Given the description of an element on the screen output the (x, y) to click on. 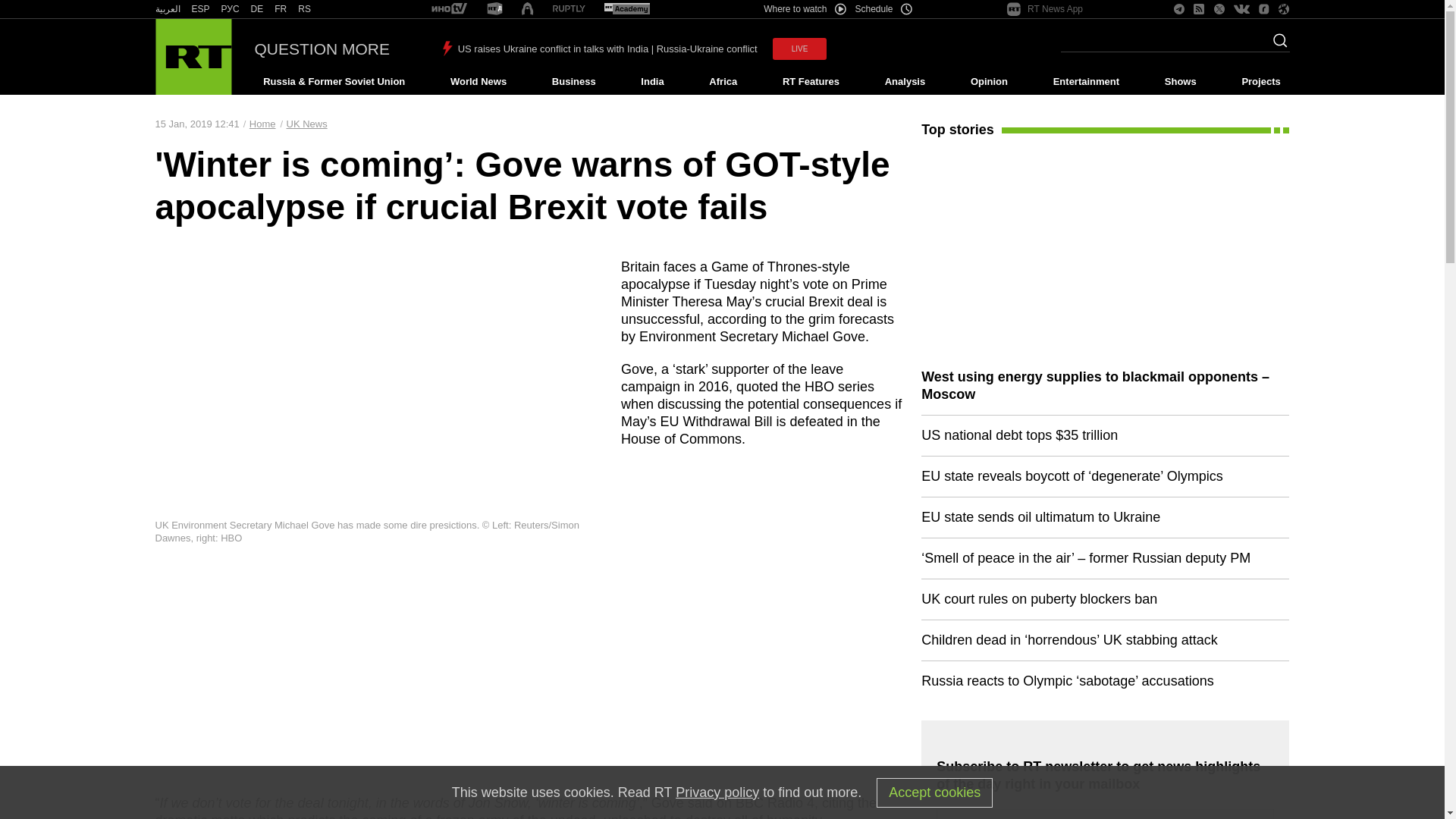
World News (478, 81)
RT  (199, 9)
RT  (569, 8)
Where to watch (803, 9)
RS (304, 9)
RT News App (1045, 9)
India (651, 81)
Business (573, 81)
Search (1276, 44)
RT  (166, 9)
QUESTION MORE (322, 48)
LIVE (800, 48)
RT  (448, 9)
Schedule (884, 9)
Entertainment (1085, 81)
